Given the description of an element on the screen output the (x, y) to click on. 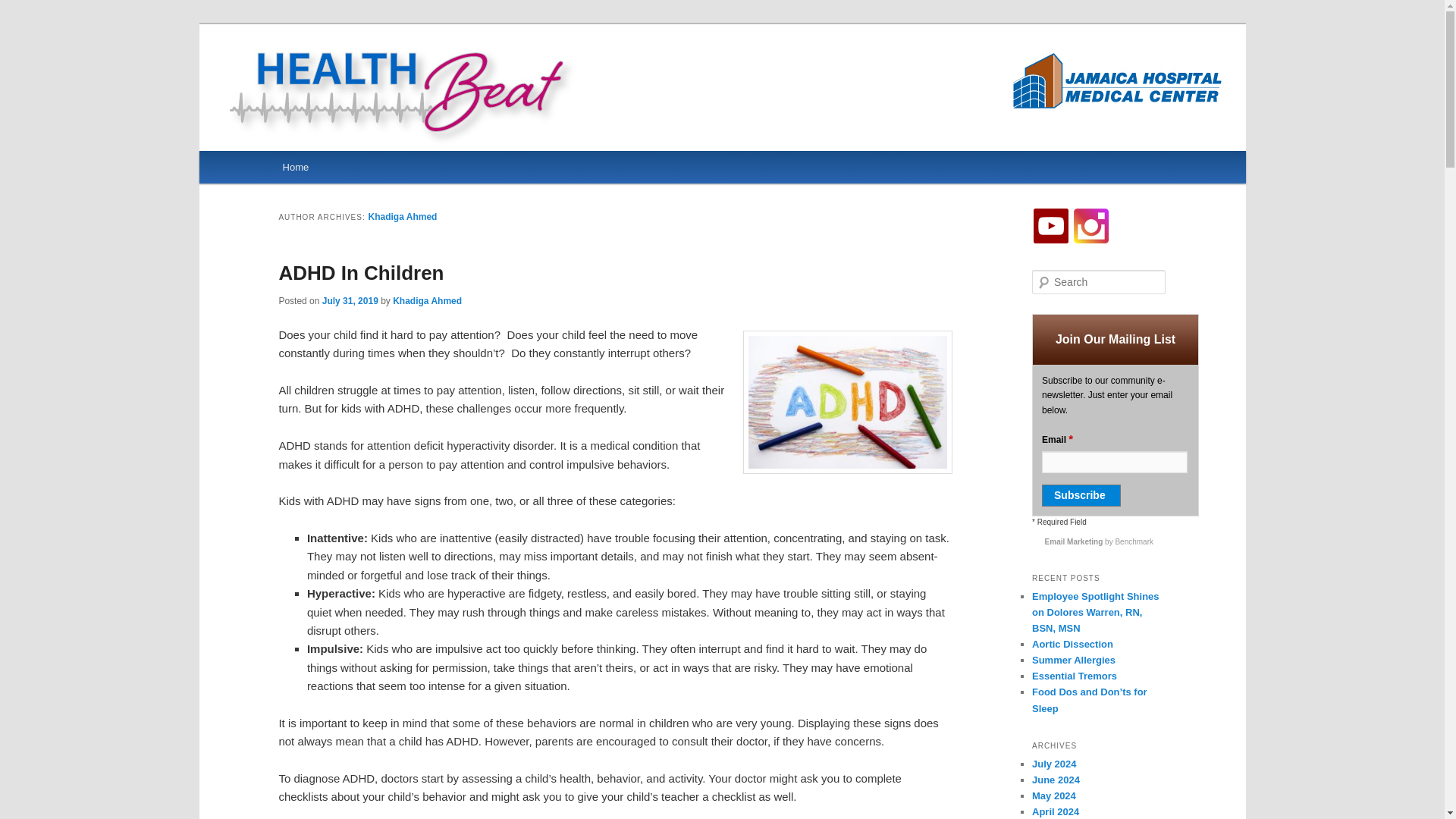
June 2024 (1056, 779)
Aortic Dissection (1072, 644)
ADHD In Children (361, 272)
July 2024 (1054, 763)
July 31, 2019 (349, 300)
May 2024 (1053, 795)
Search (21, 11)
View all posts by Khadiga Ahmed (427, 300)
Email Marketing (1075, 541)
April 2024 (1055, 811)
Khadiga Ahmed (403, 216)
Summer Allergies (1073, 659)
Employee Spotlight Shines on Dolores Warren, RN, BSN, MSN (1095, 611)
Subscribe  (1081, 495)
